Given the description of an element on the screen output the (x, y) to click on. 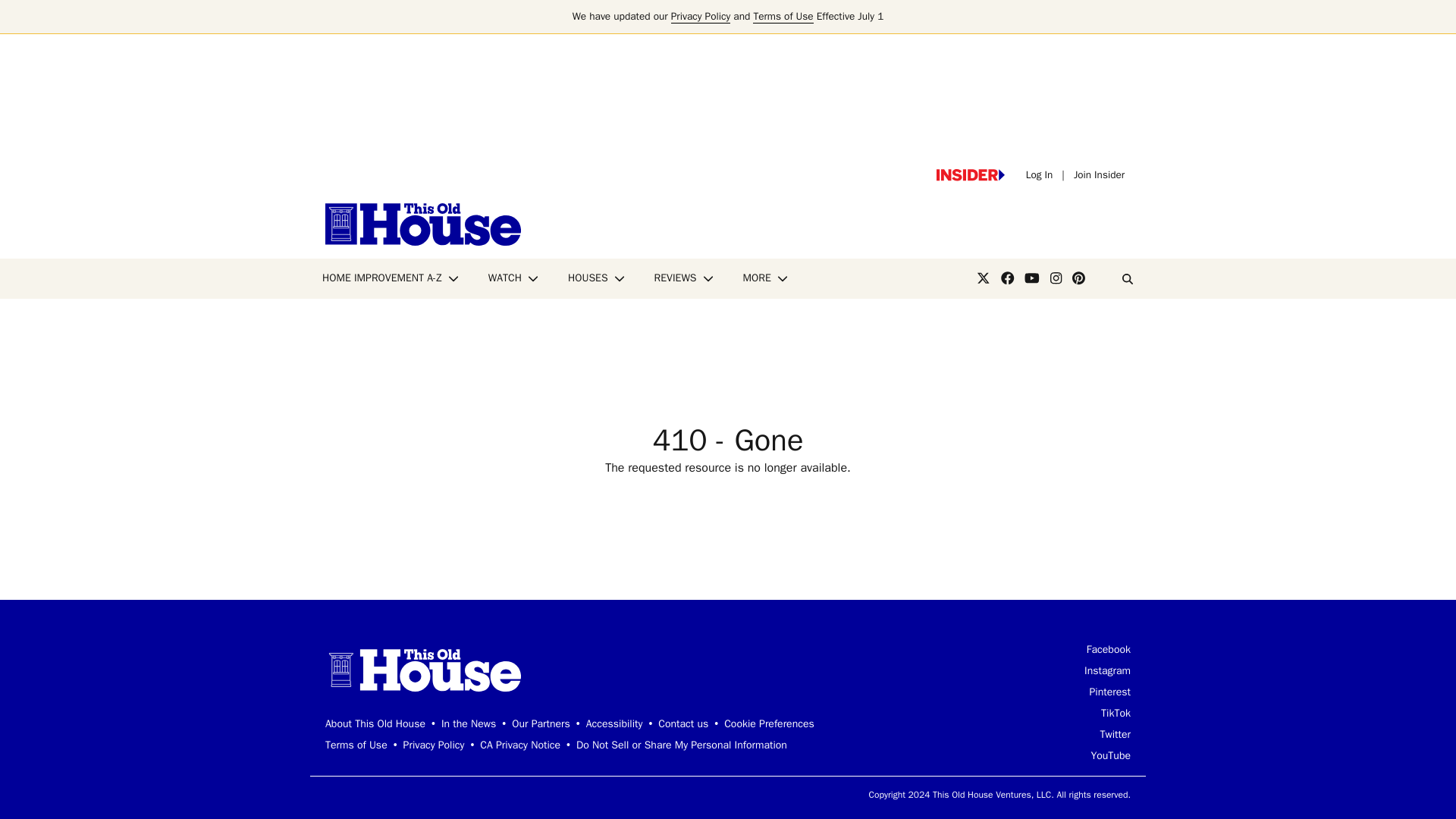
Log In (1039, 174)
Terms of Use (782, 16)
Privacy Policy (700, 16)
Join Insider (1099, 174)
Log in or sign up (970, 174)
